Given the description of an element on the screen output the (x, y) to click on. 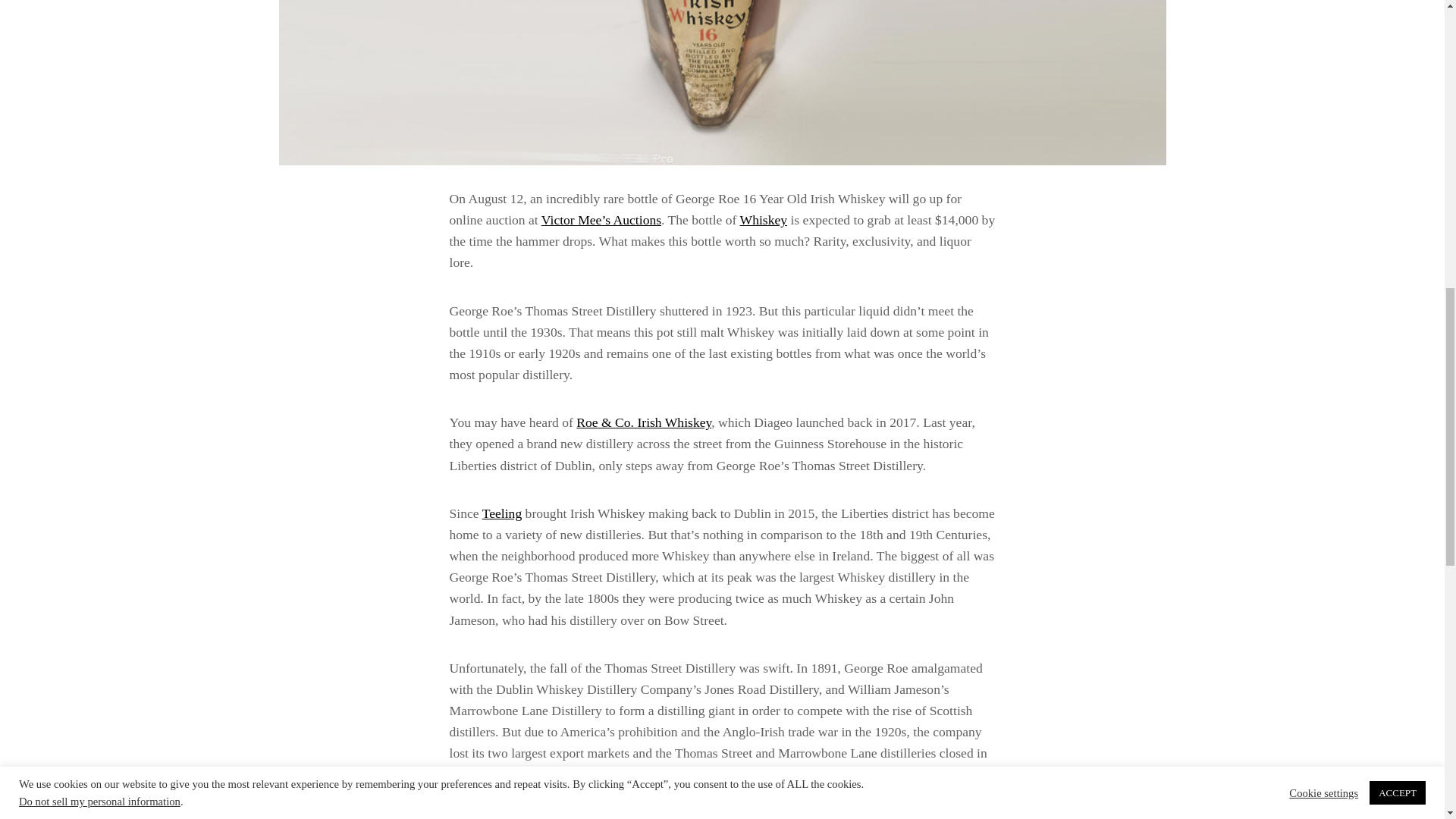
Whiskey (763, 219)
